Given the description of an element on the screen output the (x, y) to click on. 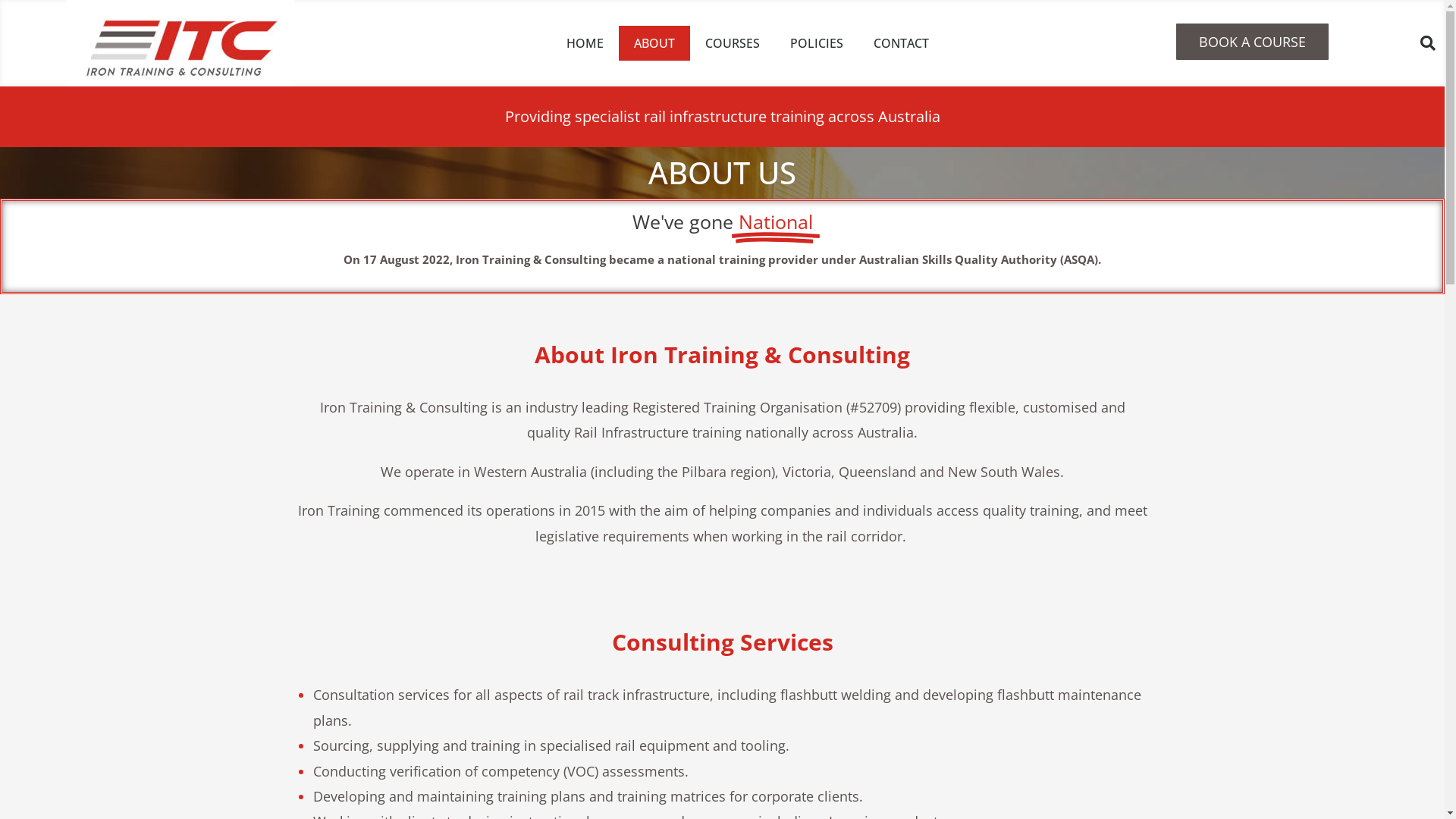
ABOUT Element type: text (654, 42)
POLICIES Element type: text (816, 42)
BOOK A COURSE Element type: text (1252, 41)
COURSES Element type: text (732, 42)
HOME Element type: text (584, 42)
CONTACT Element type: text (901, 42)
